Given the description of an element on the screen output the (x, y) to click on. 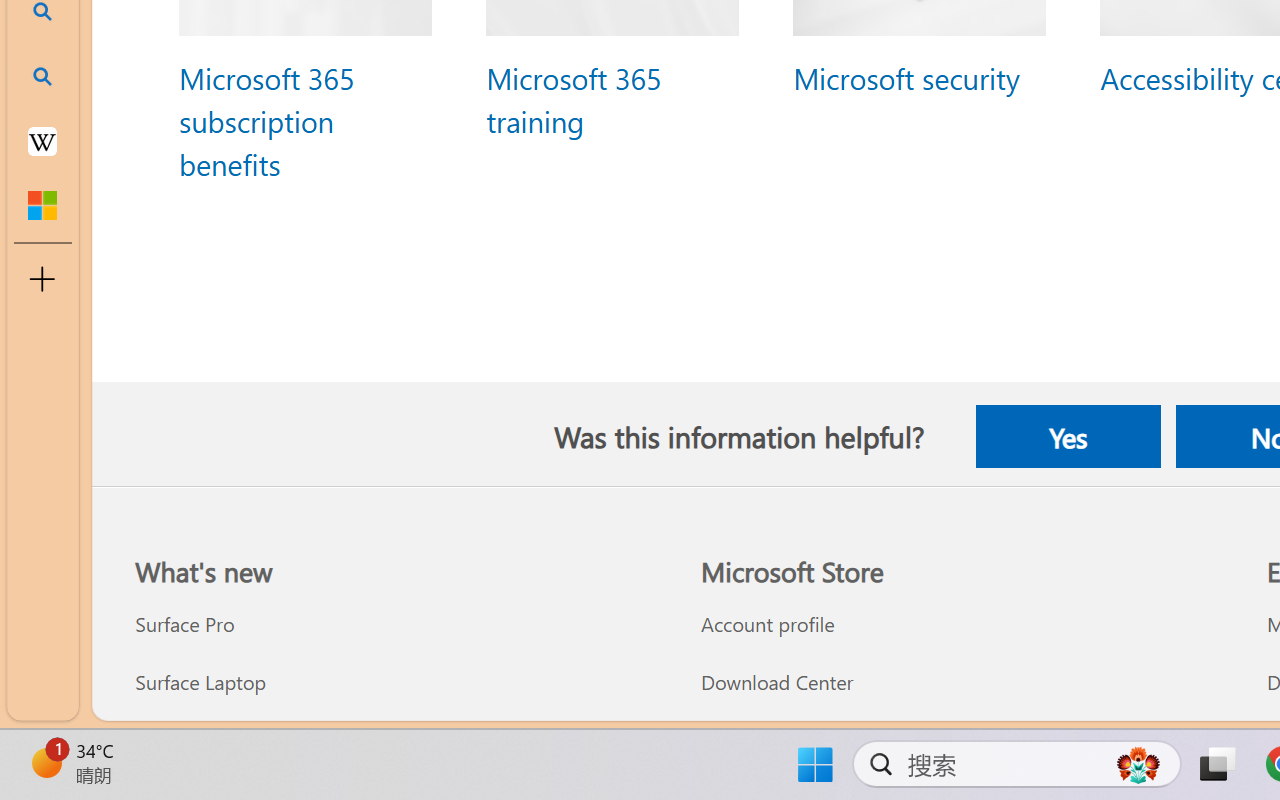
Account profile (961, 624)
Microsoft 365 training (572, 98)
Earth - Wikipedia (42, 140)
Download Center Microsoft Store (776, 681)
